Given the description of an element on the screen output the (x, y) to click on. 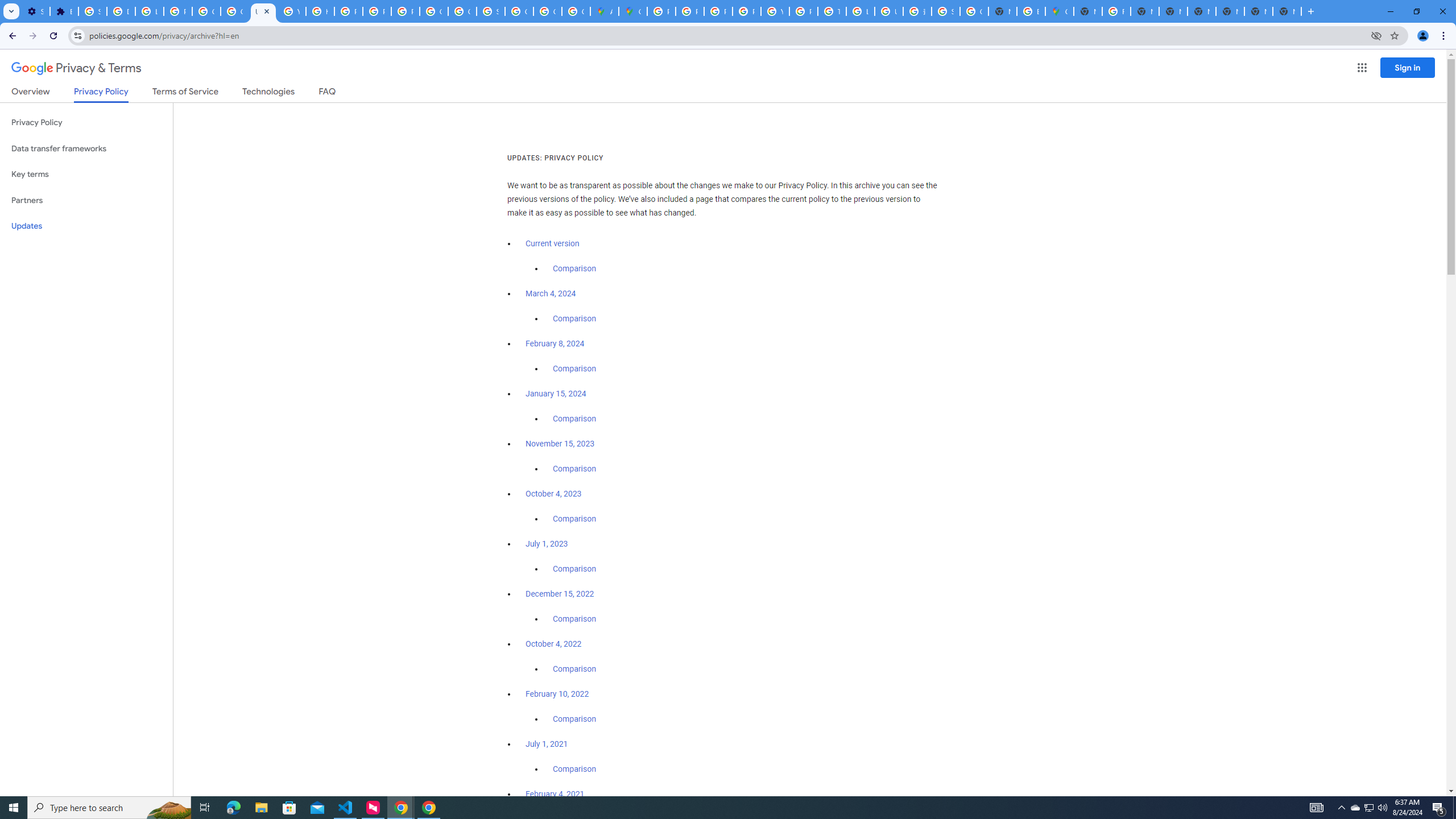
New Tab (1287, 11)
December 15, 2022 (559, 593)
Privacy Help Center - Policies Help (718, 11)
Delete photos & videos - Computer - Google Photos Help (120, 11)
July 1, 2021 (546, 743)
